Given the description of an element on the screen output the (x, y) to click on. 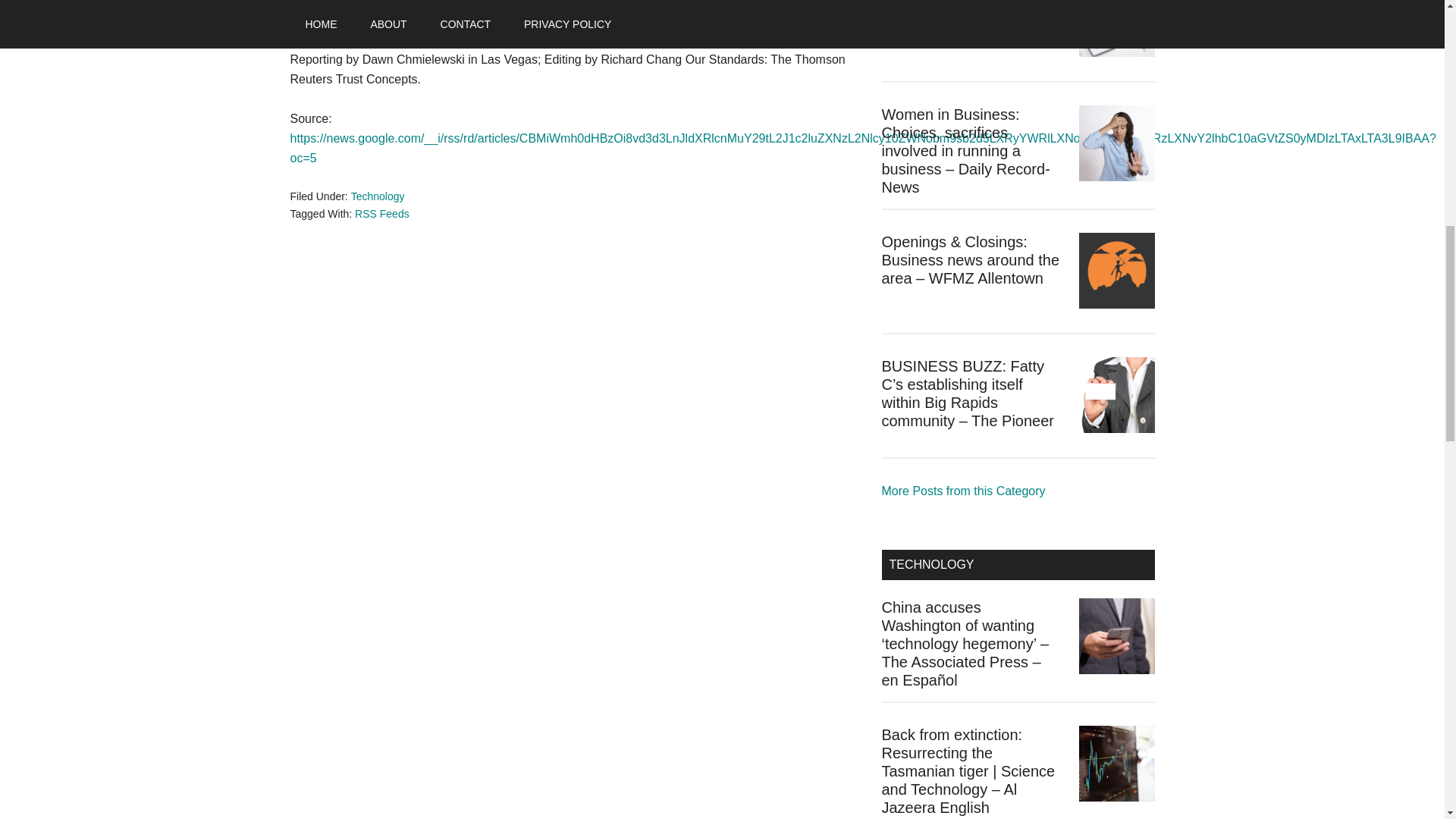
More Posts from this Category (962, 490)
Technology (377, 196)
RSS Feeds (382, 214)
Business (962, 490)
